Given the description of an element on the screen output the (x, y) to click on. 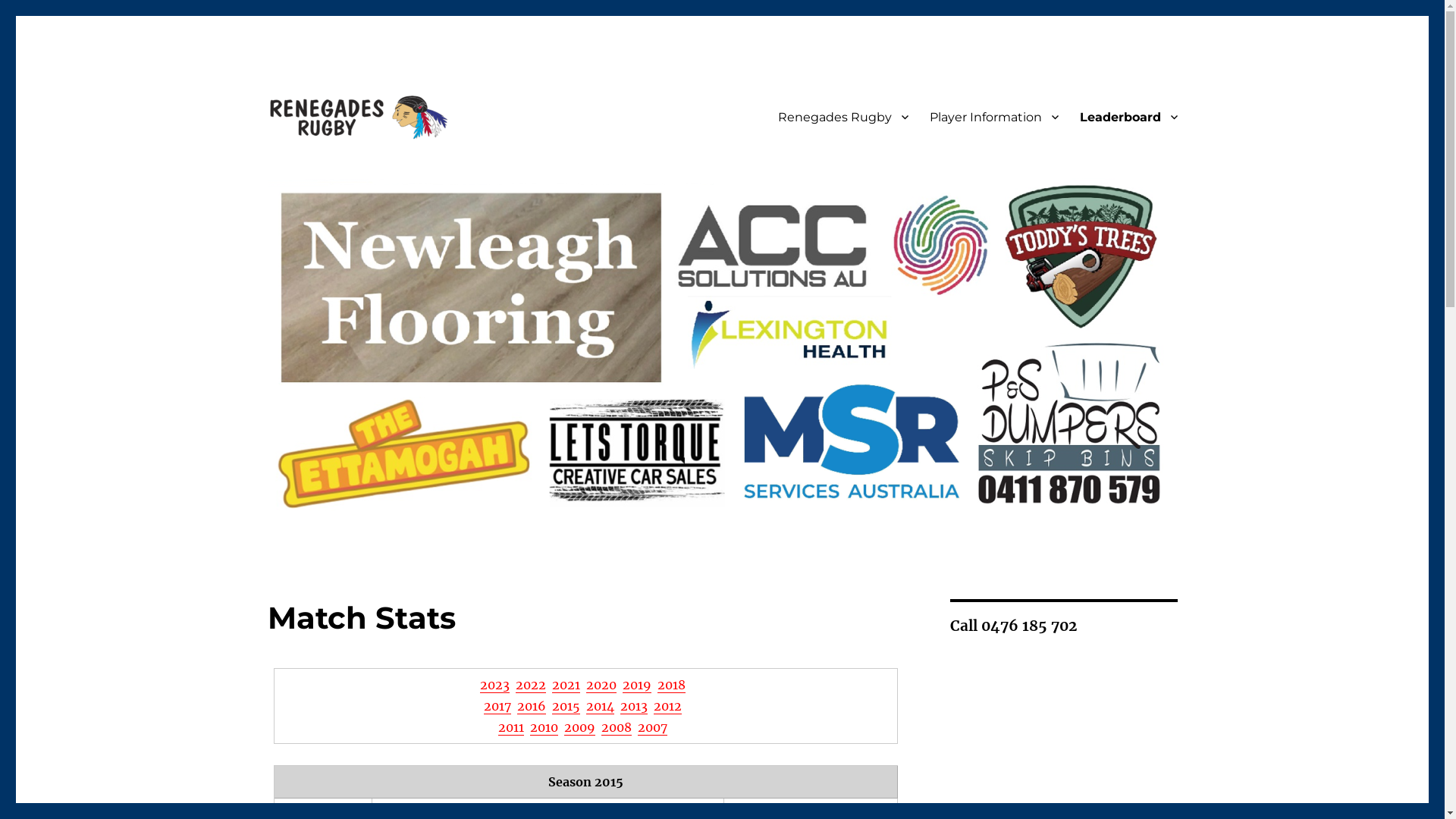
2010 Element type: text (544, 726)
2016 Element type: text (531, 705)
2015 Element type: text (566, 705)
2013 Element type: text (633, 705)
2008 Element type: text (616, 726)
2021 Element type: text (566, 684)
2011 Element type: text (511, 726)
Player Information Element type: text (994, 116)
Renegades Rugby Element type: text (843, 116)
2022 Element type: text (530, 684)
2023 Element type: text (494, 684)
2014 Element type: text (600, 705)
Renegades Rugby Element type: text (368, 165)
2007 Element type: text (652, 726)
2009 Element type: text (579, 726)
2012 Element type: text (667, 705)
2019 Element type: text (636, 684)
2018 Element type: text (671, 684)
2020 Element type: text (601, 684)
Leaderboard Element type: text (1128, 116)
2017 Element type: text (497, 705)
